Given the description of an element on the screen output the (x, y) to click on. 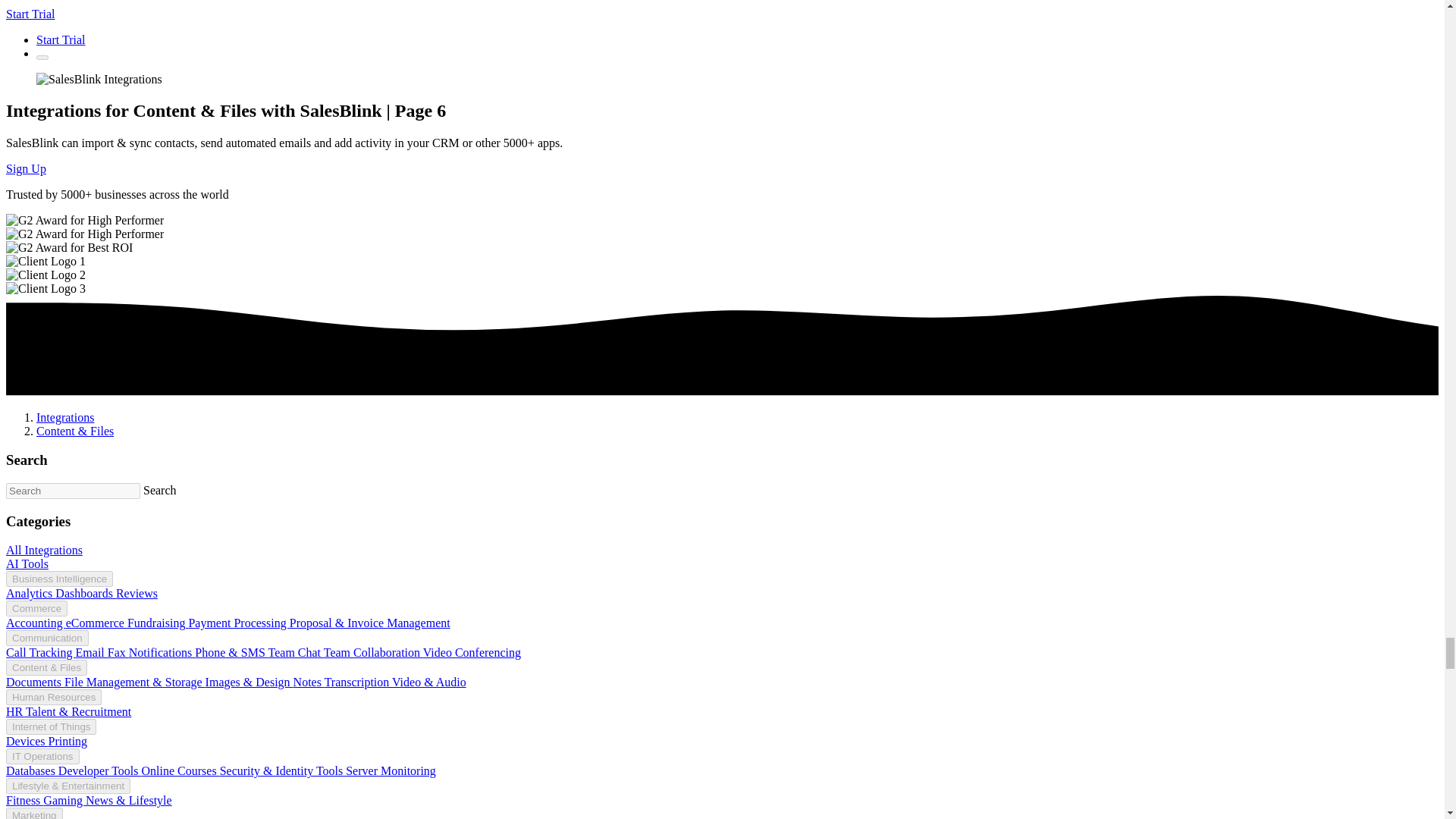
Client Logo 3 (45, 288)
Sign Up (25, 168)
Business Intelligence (59, 578)
eCommerce (96, 622)
SalesBlink Integrations (98, 79)
Integrations (65, 417)
Reviews (136, 593)
Start Trial (60, 39)
AI Tools (26, 563)
Start Trial (30, 13)
Analytics (30, 593)
All Integrations (43, 549)
Communication (46, 637)
Client Logo 1 (45, 261)
Payment Processing (237, 622)
